Given the description of an element on the screen output the (x, y) to click on. 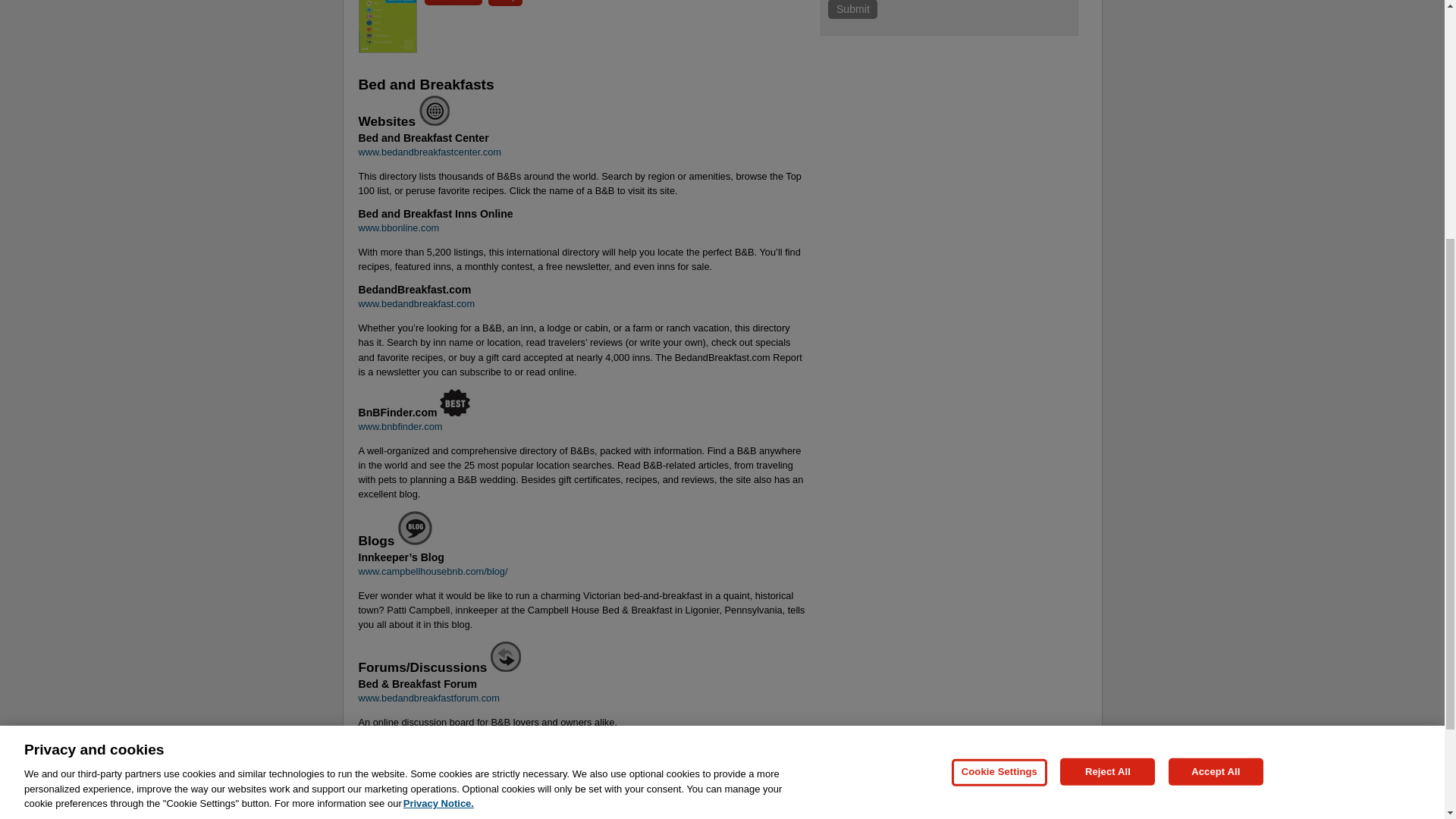
www.bedandbreakfastcenter.com (429, 152)
Learn More (453, 2)
Submit (852, 9)
